Given the description of an element on the screen output the (x, y) to click on. 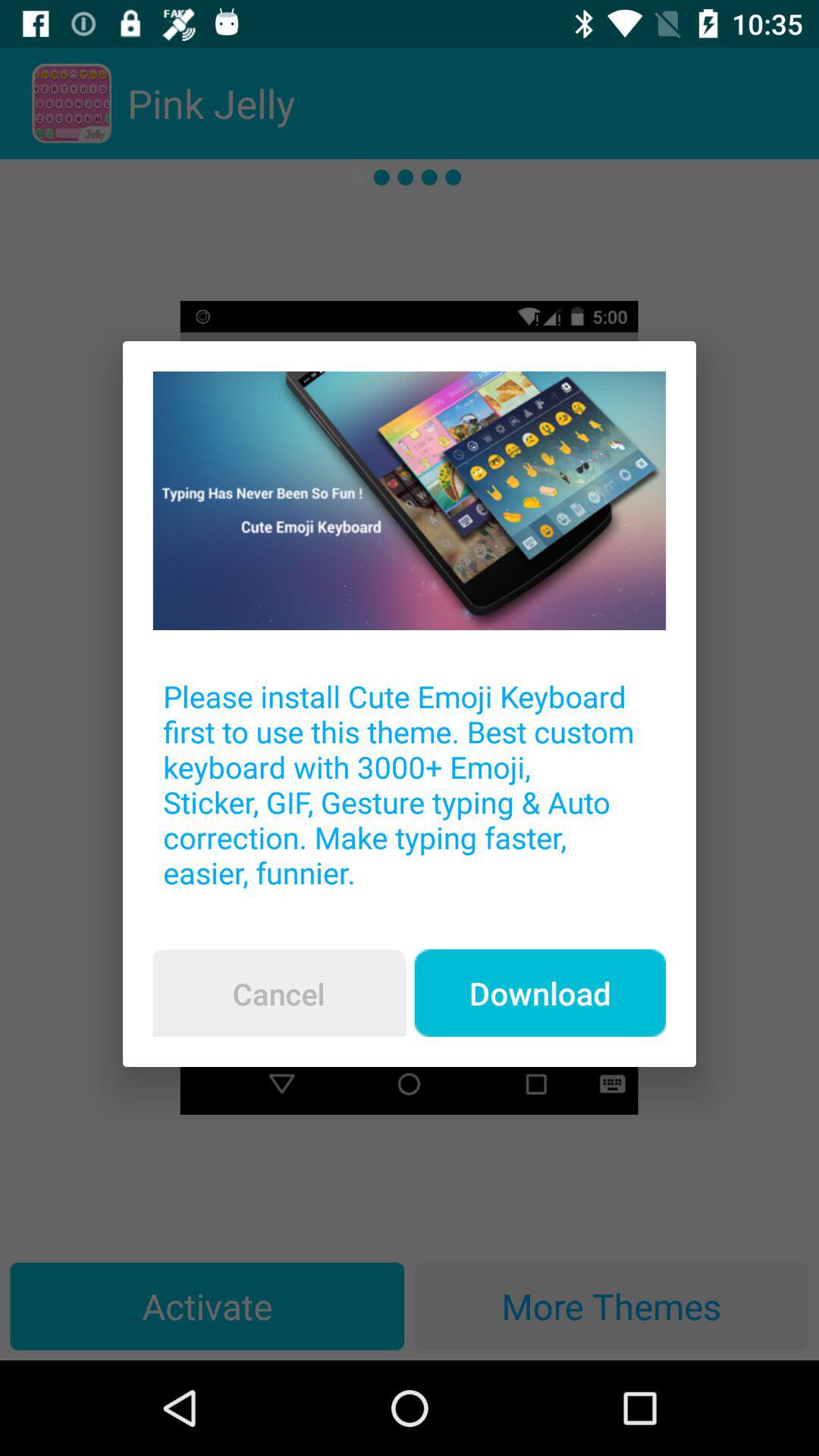
flip until the cancel icon (278, 993)
